Given the description of an element on the screen output the (x, y) to click on. 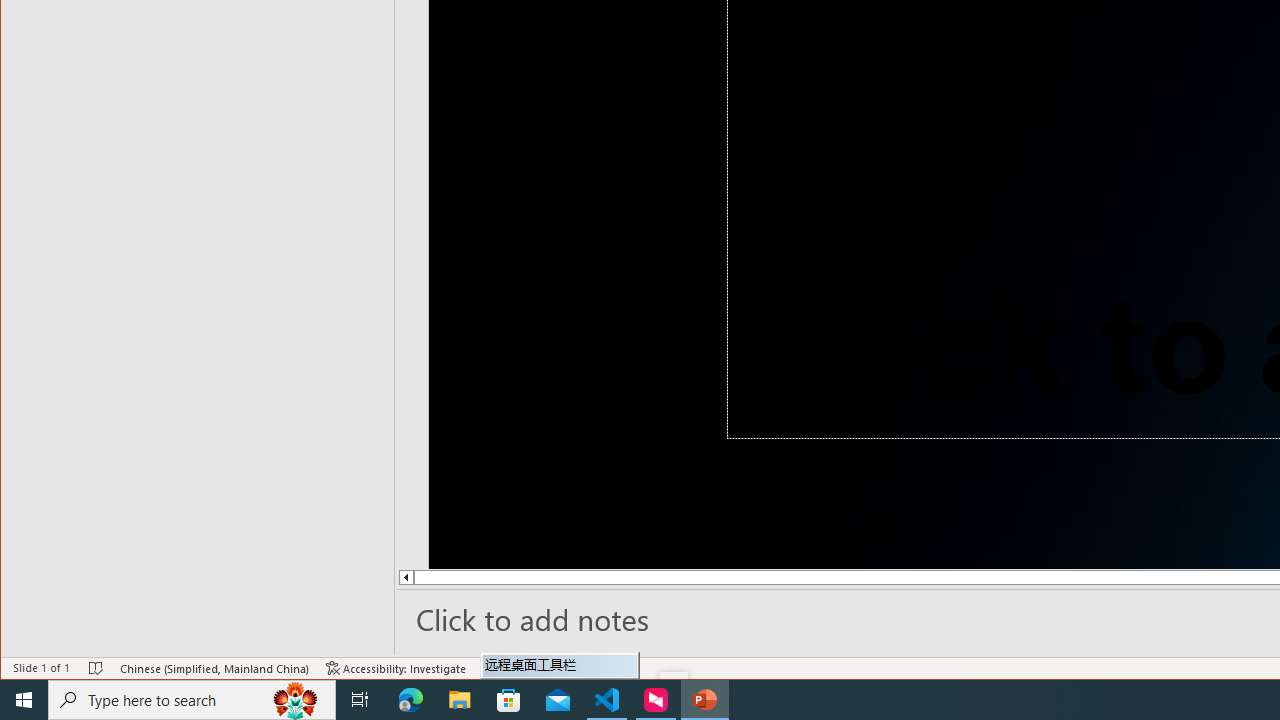
Search highlights icon opens search home window (295, 699)
Accessibility Checker Accessibility: Investigate (395, 668)
Microsoft Store (509, 699)
PowerPoint - 1 running window (704, 699)
File Explorer (460, 699)
Type here to search (191, 699)
Start (24, 699)
Task View (359, 699)
Microsoft Edge (411, 699)
Visual Studio Code - 1 running window (607, 699)
